Given the description of an element on the screen output the (x, y) to click on. 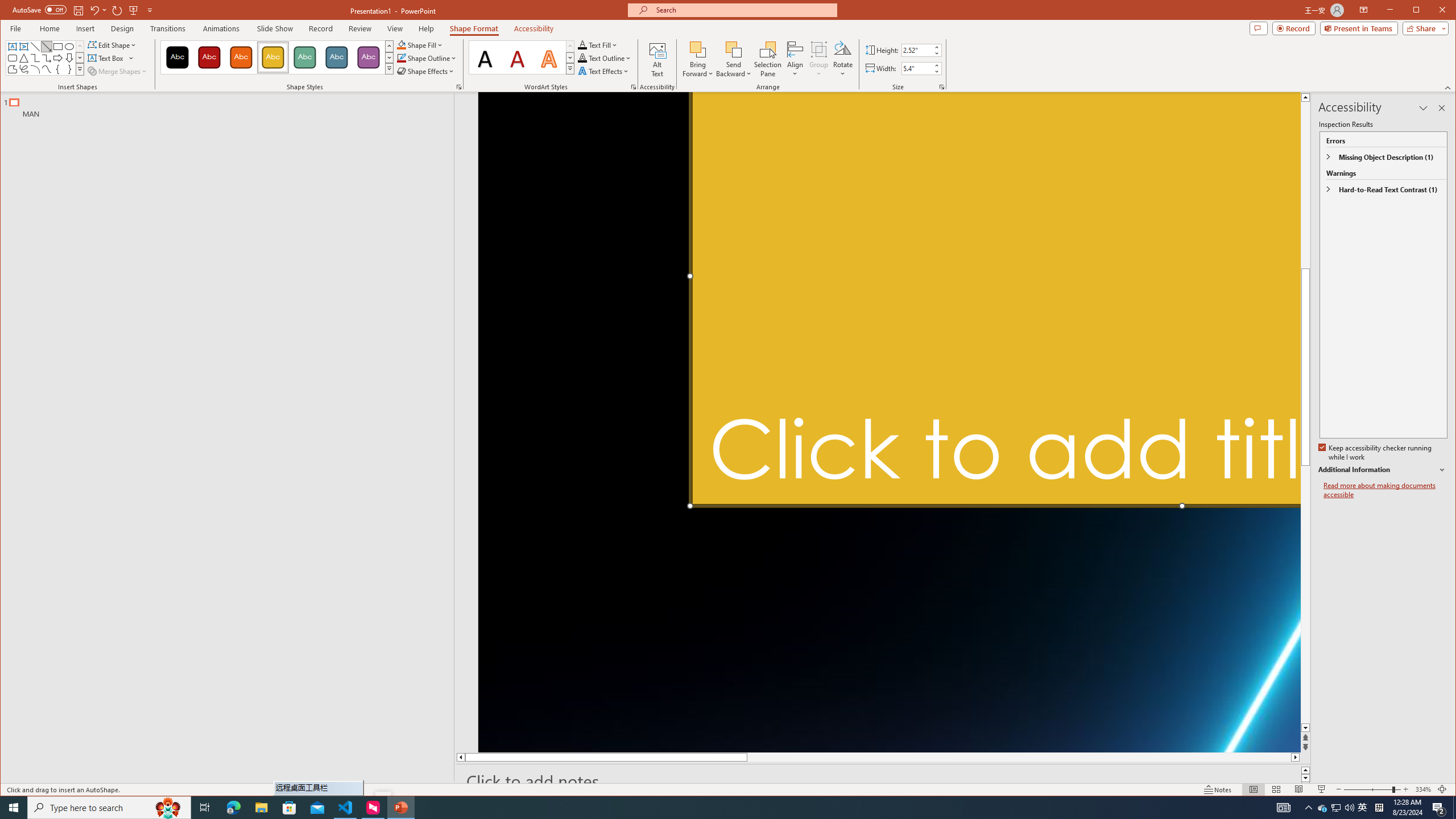
Freeform: Shape (12, 69)
Colored Fill - Black, Dark 1 (177, 57)
Text Fill (598, 44)
Line Arrow (46, 46)
Align (794, 59)
Send Backward (733, 48)
Running applications (700, 807)
Line (34, 46)
